Given the description of an element on the screen output the (x, y) to click on. 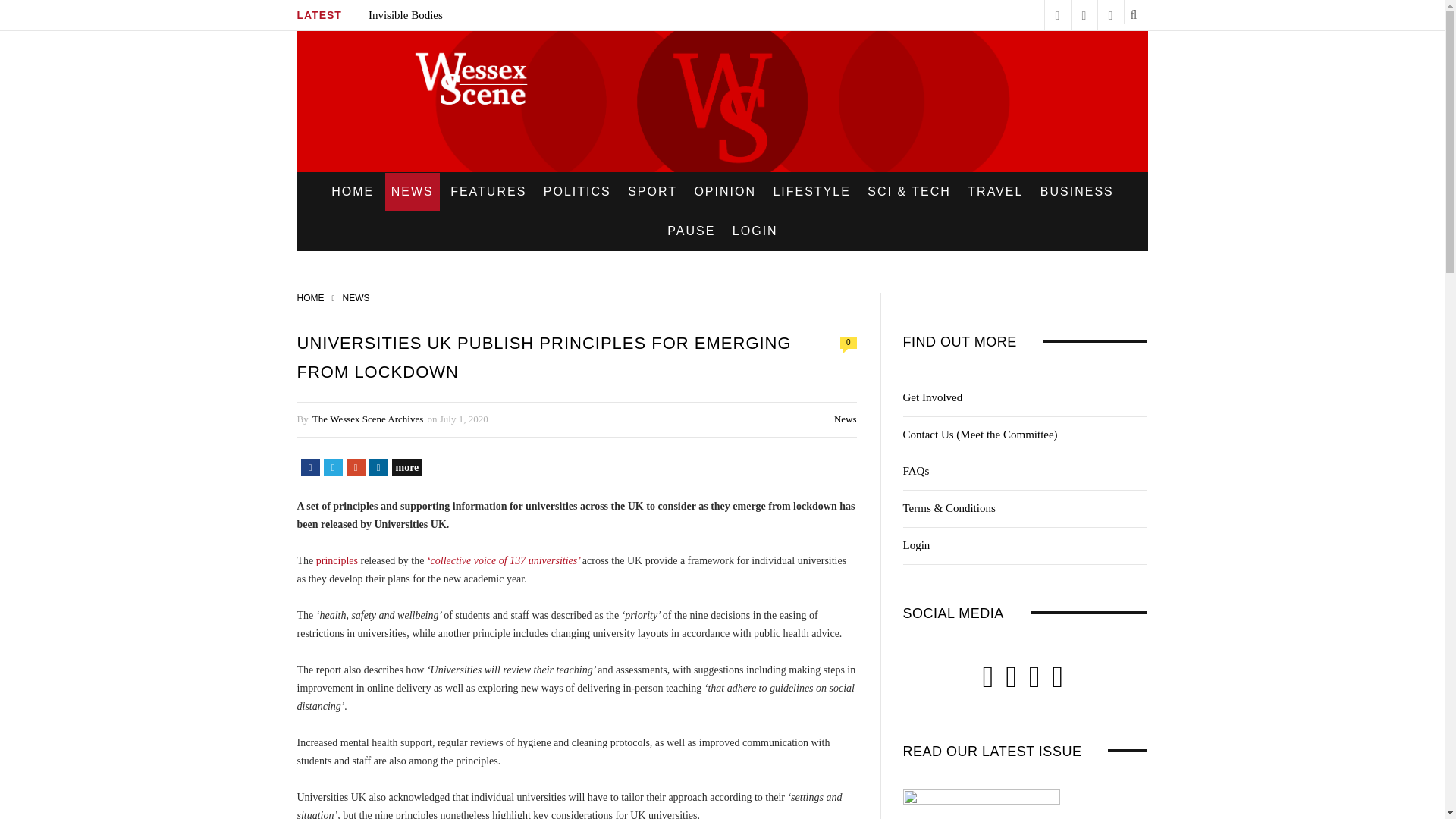
SPORT (651, 191)
PAUSE (690, 231)
LOGIN (755, 231)
BUSINESS (1076, 191)
FEATURES (488, 191)
Invisible Bodies (405, 15)
Invisible Bodies (405, 15)
News (845, 419)
LinkedIn (377, 466)
HOME (352, 191)
